Given the description of an element on the screen output the (x, y) to click on. 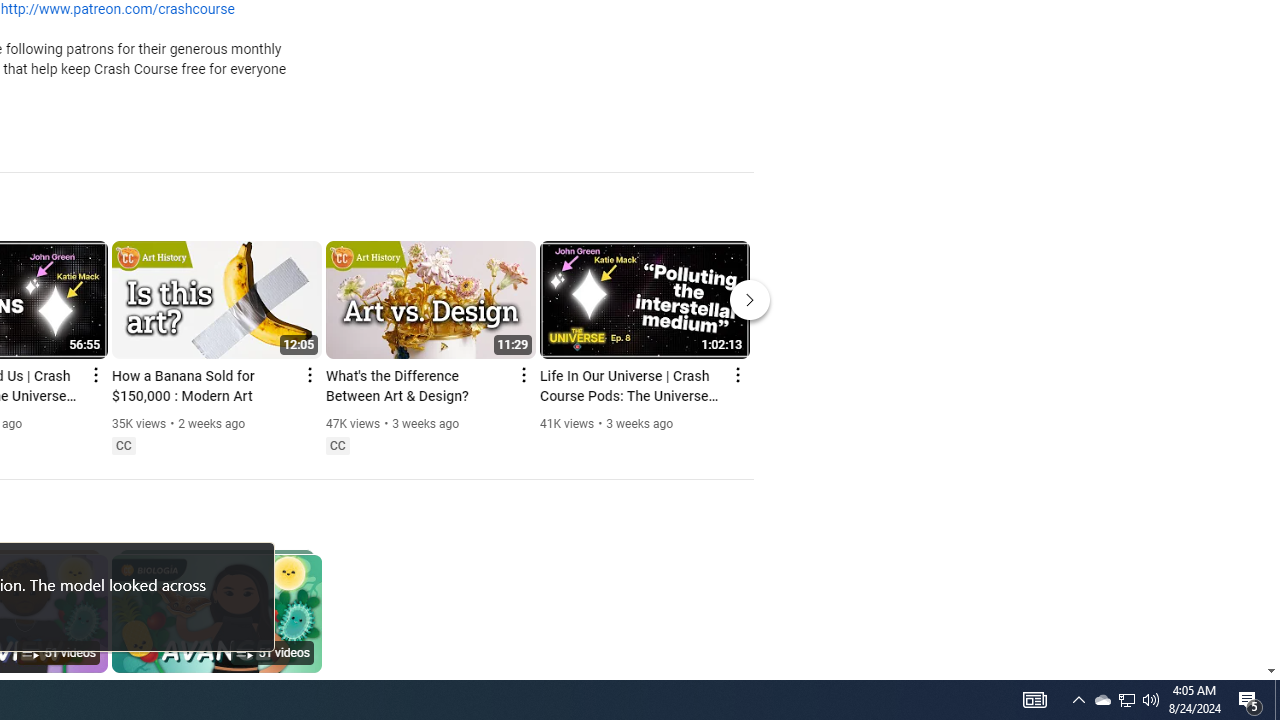
Action menu (736, 374)
Closed captions (337, 446)
http://www.patreon.com/crashcourse (117, 10)
